Given the description of an element on the screen output the (x, y) to click on. 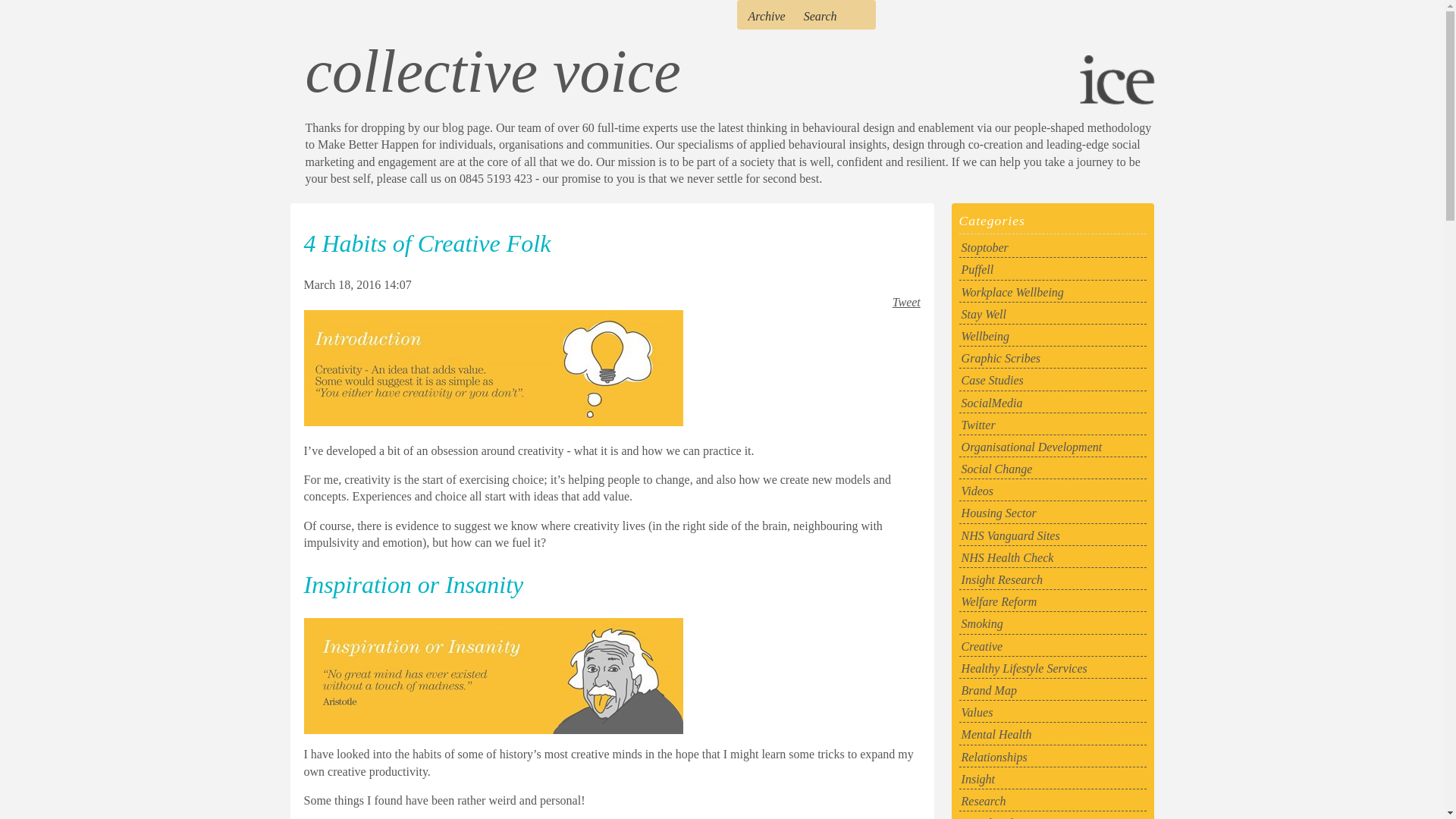
4 Habits of Creative Folk (426, 243)
Graphic Scribes (1053, 357)
Case Studies (1053, 380)
Category: ASP.Net (1053, 468)
Welfare Reform (1053, 601)
Mental Health (1053, 733)
Search (820, 15)
NHS Health Check (1053, 557)
Organisational Development (1053, 446)
Category: ASP.Net (1053, 292)
NHS Vanguard Sites (1053, 535)
Category: ASP.Net (1053, 535)
Archive (767, 15)
Values (1053, 711)
Category: ASP.Net (1053, 446)
